Given the description of an element on the screen output the (x, y) to click on. 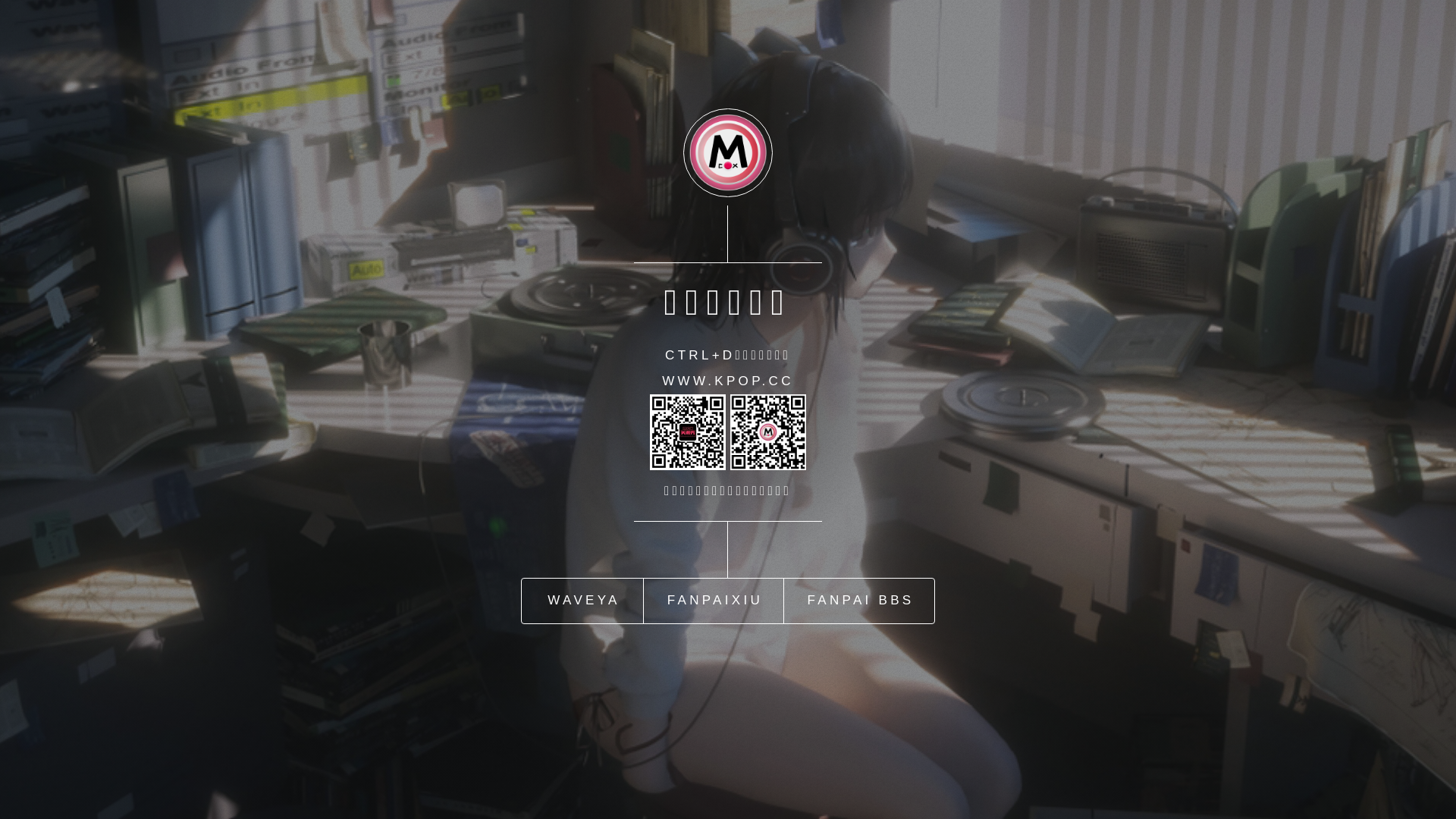
FANPAIXIU Element type: text (713, 600)
FANPAI BBS Element type: text (859, 600)
WAVEYA Element type: text (582, 600)
